Given the description of an element on the screen output the (x, y) to click on. 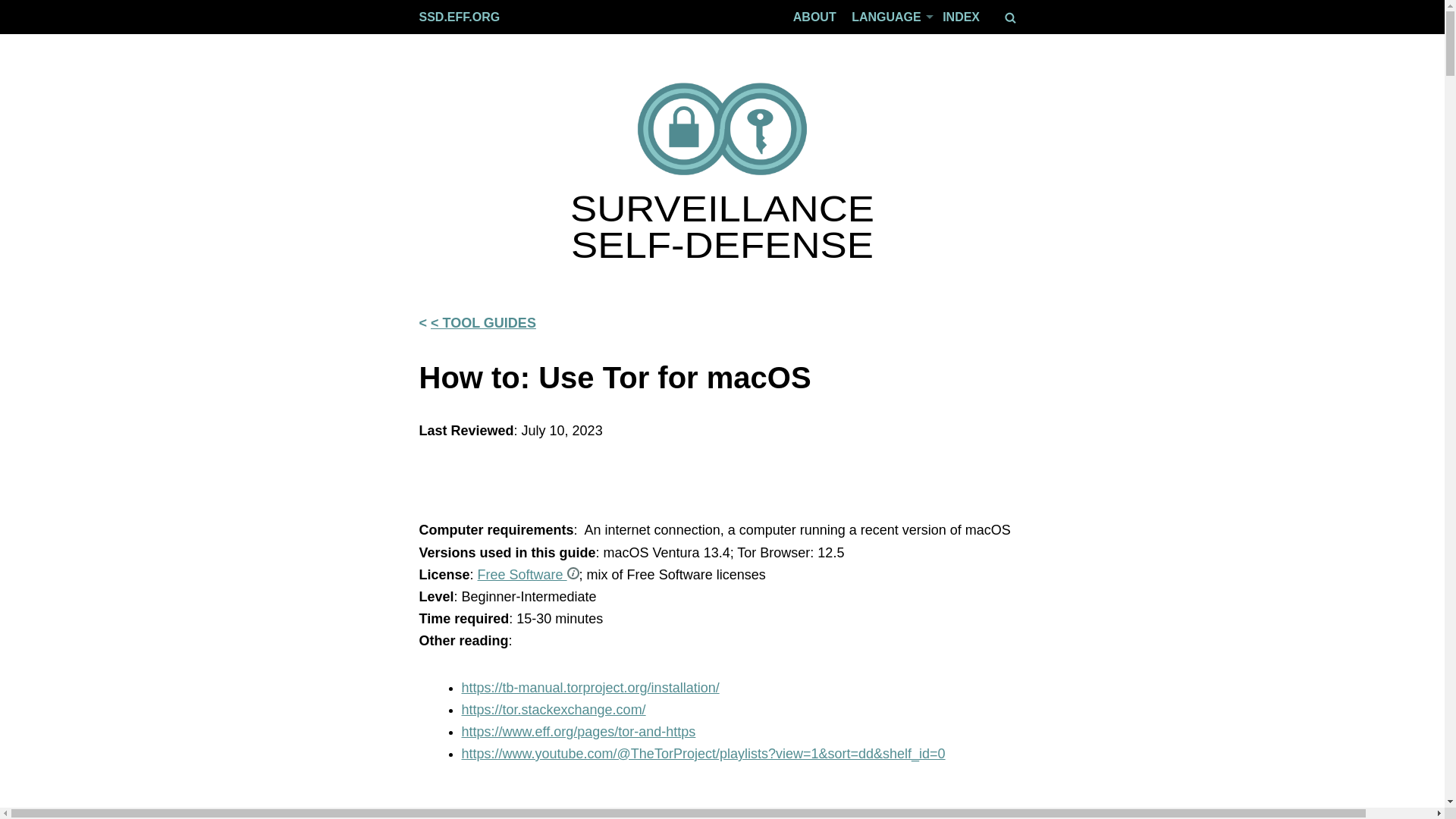
INDEX (960, 16)
ENGLISH (854, 48)
ABOUT (814, 16)
LANGUAGE (886, 16)
MORE TRANSLATIONS (854, 527)
Home (722, 130)
Search (1009, 18)
BURMESE (854, 390)
MANDARIN (854, 356)
